Given the description of an element on the screen output the (x, y) to click on. 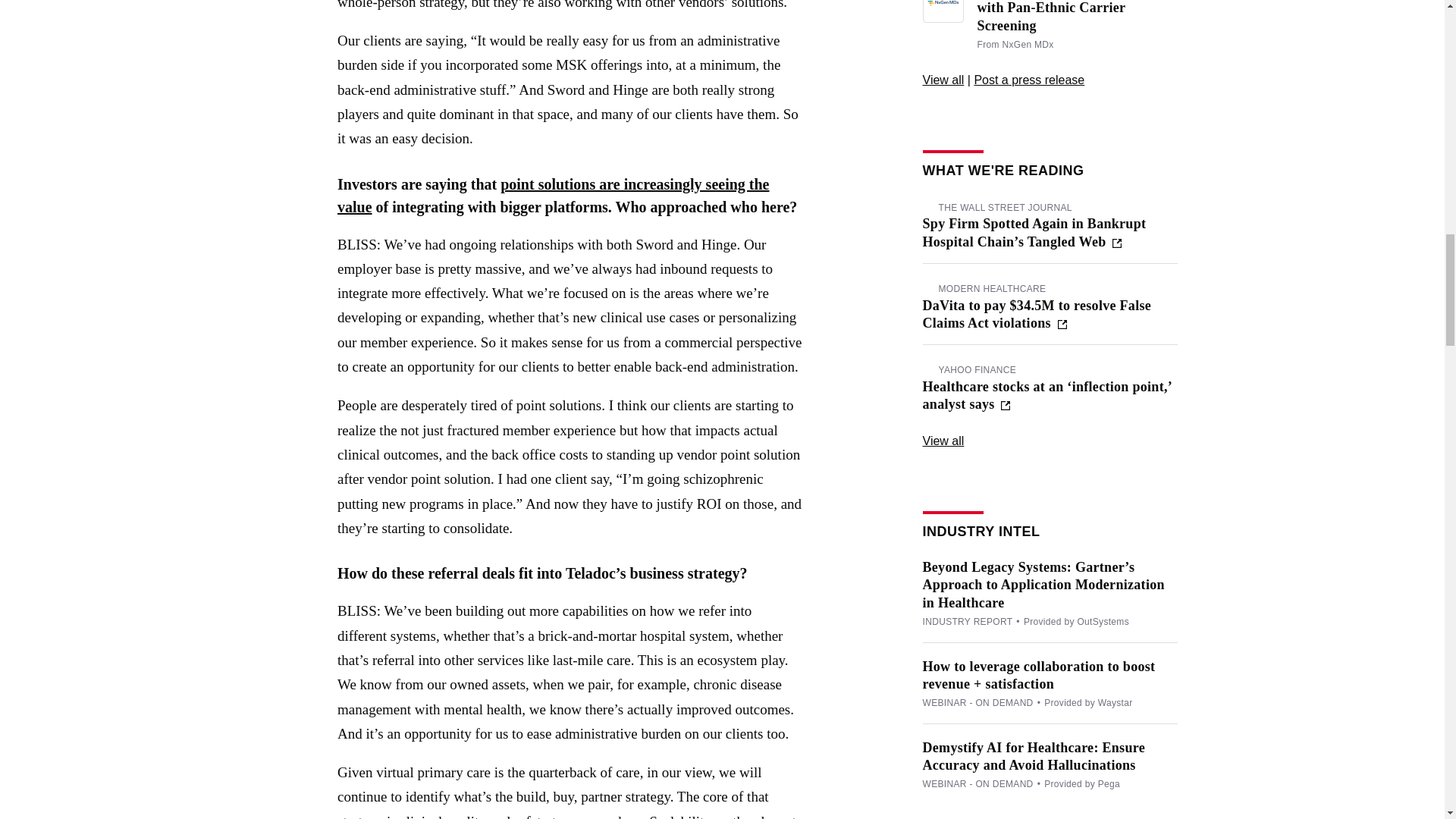
point solutions are increasingly seeing the value (552, 195)
